Given the description of an element on the screen output the (x, y) to click on. 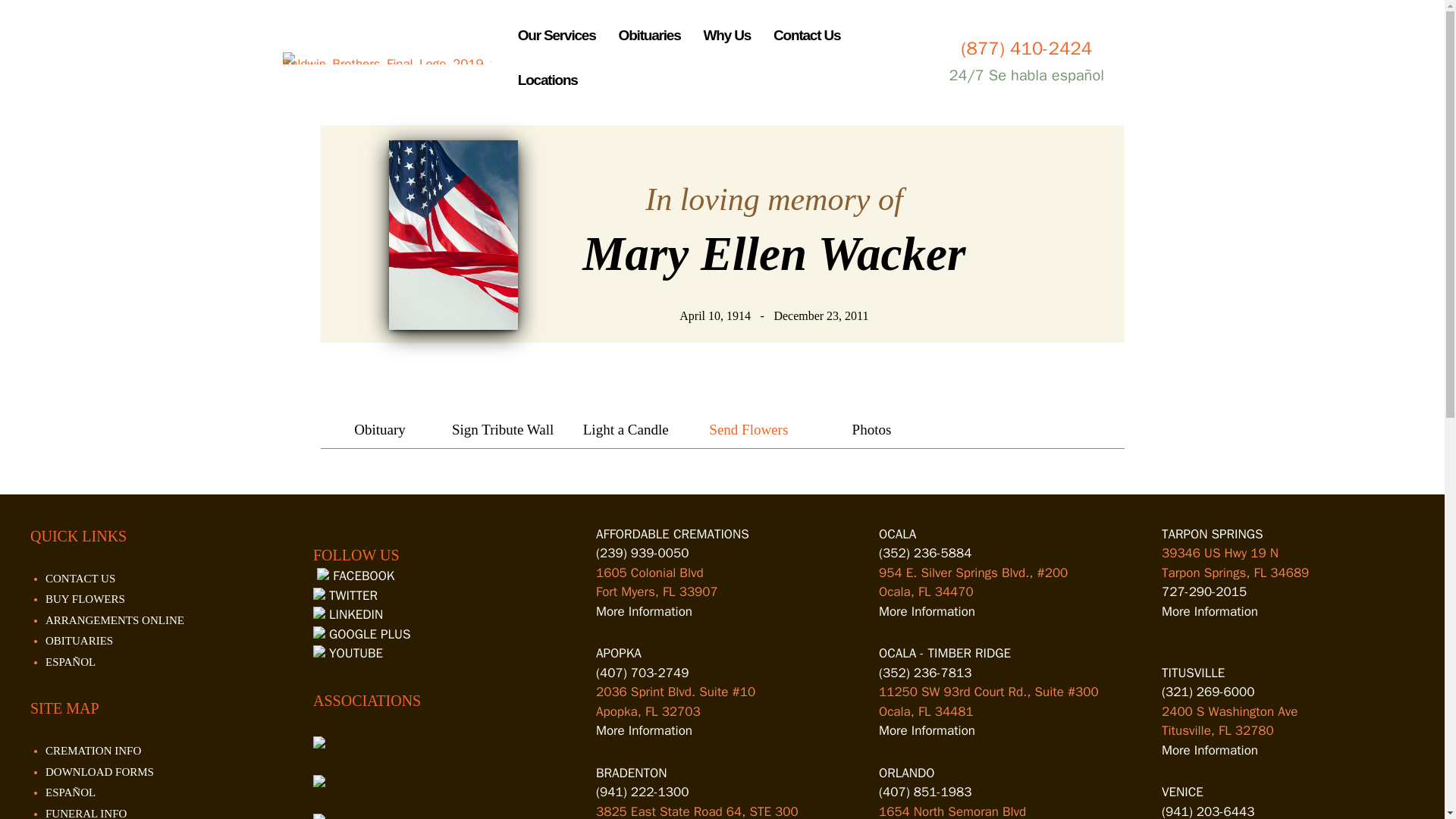
Our Services (557, 35)
Obituaries (649, 35)
Why Us (726, 35)
